Given the description of an element on the screen output the (x, y) to click on. 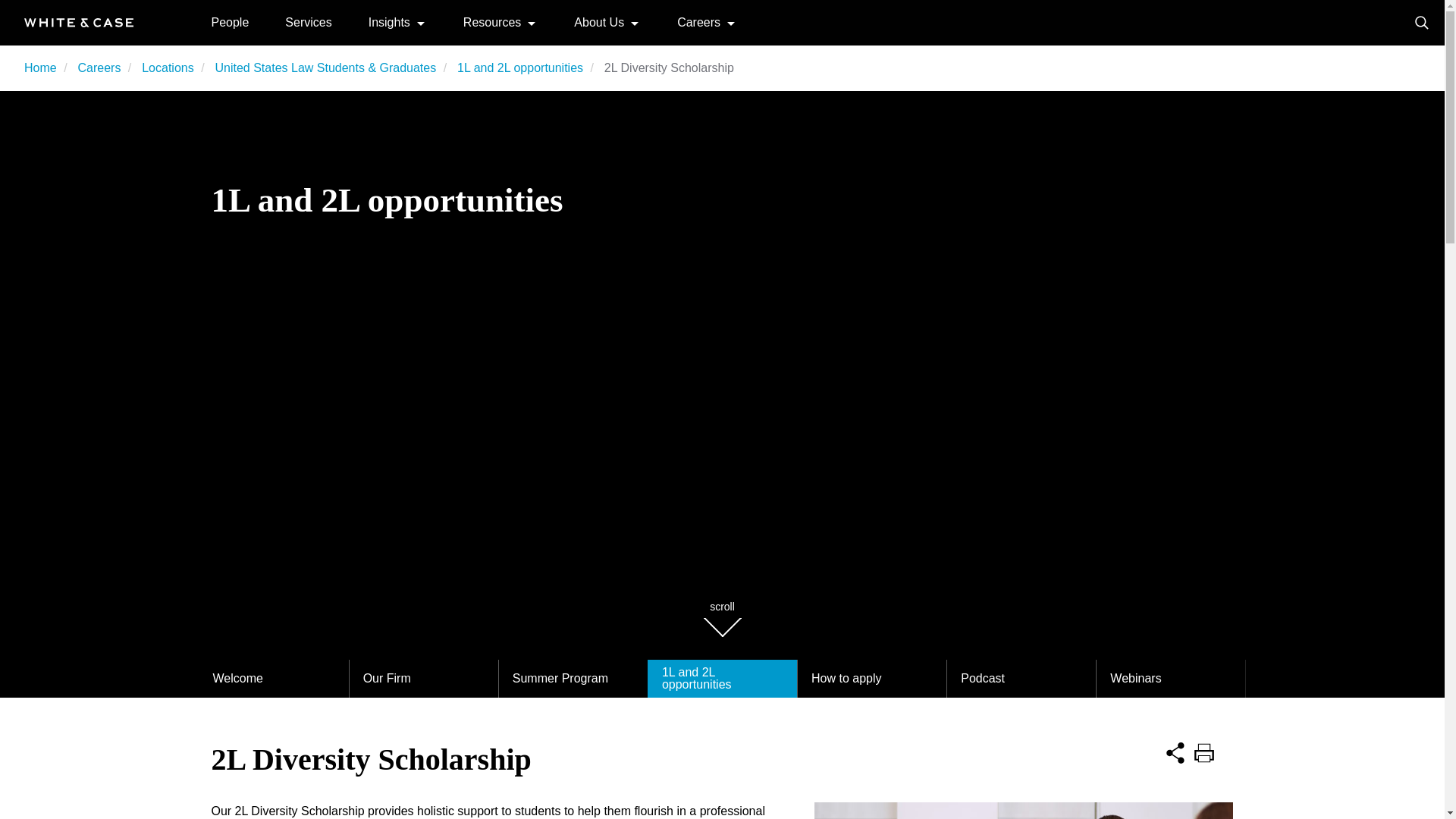
Resources (492, 21)
Print this page (1203, 750)
1L and 2L opportunities (520, 67)
Share this Page (1175, 750)
About Us (598, 21)
People (229, 21)
Careers (98, 67)
Welcome (272, 678)
Careers (698, 21)
Insights (389, 21)
Our Firm (423, 678)
Services (308, 21)
Locations (167, 67)
Home (40, 67)
Home (78, 22)
